Given the description of an element on the screen output the (x, y) to click on. 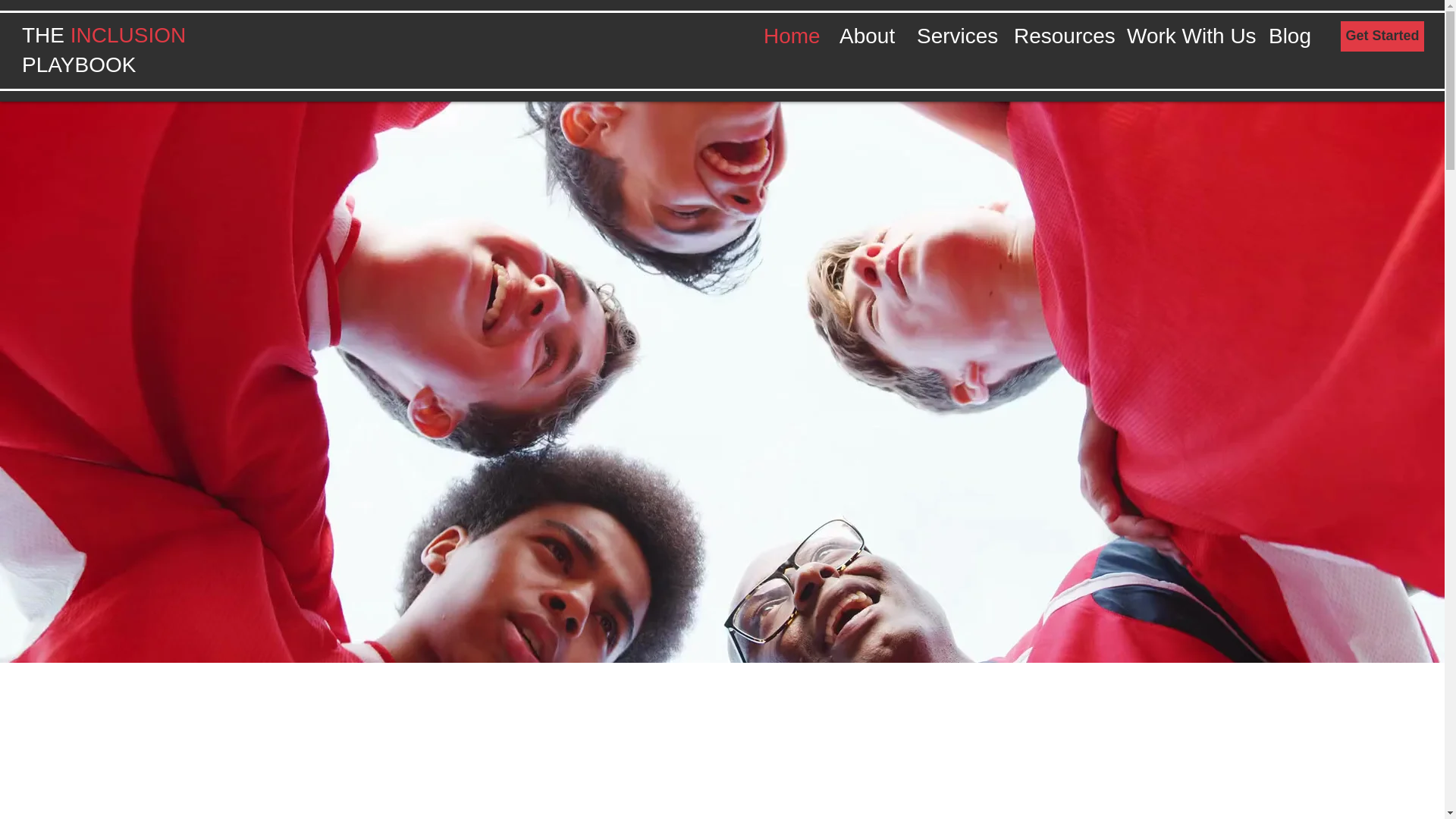
Work With Us (1185, 35)
Resources (1059, 35)
PLAYBOOK (78, 64)
Home (790, 35)
Get Started (1382, 36)
INCLUSION (127, 34)
THE (42, 34)
Blog (1289, 35)
